Given the description of an element on the screen output the (x, y) to click on. 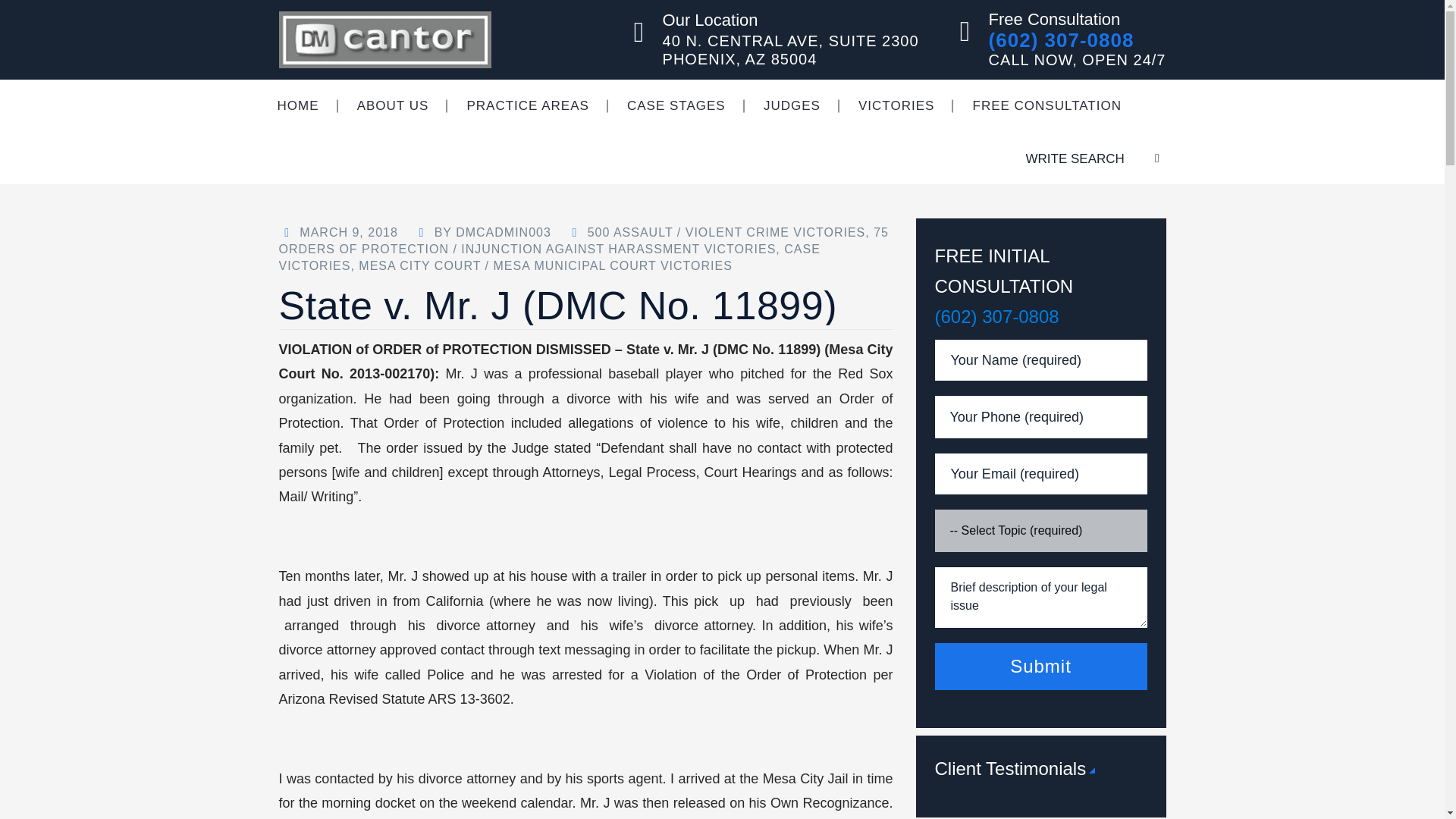
PRACTICE AREAS (526, 105)
FREE CONSULTATION (1046, 105)
ABOUT US (392, 105)
DMCADMIN003 (503, 232)
DM Cantor (385, 39)
JUDGES (791, 105)
HOME (297, 105)
Search Icon (1139, 158)
Submit (1040, 666)
CASE VICTORIES (550, 256)
